Given the description of an element on the screen output the (x, y) to click on. 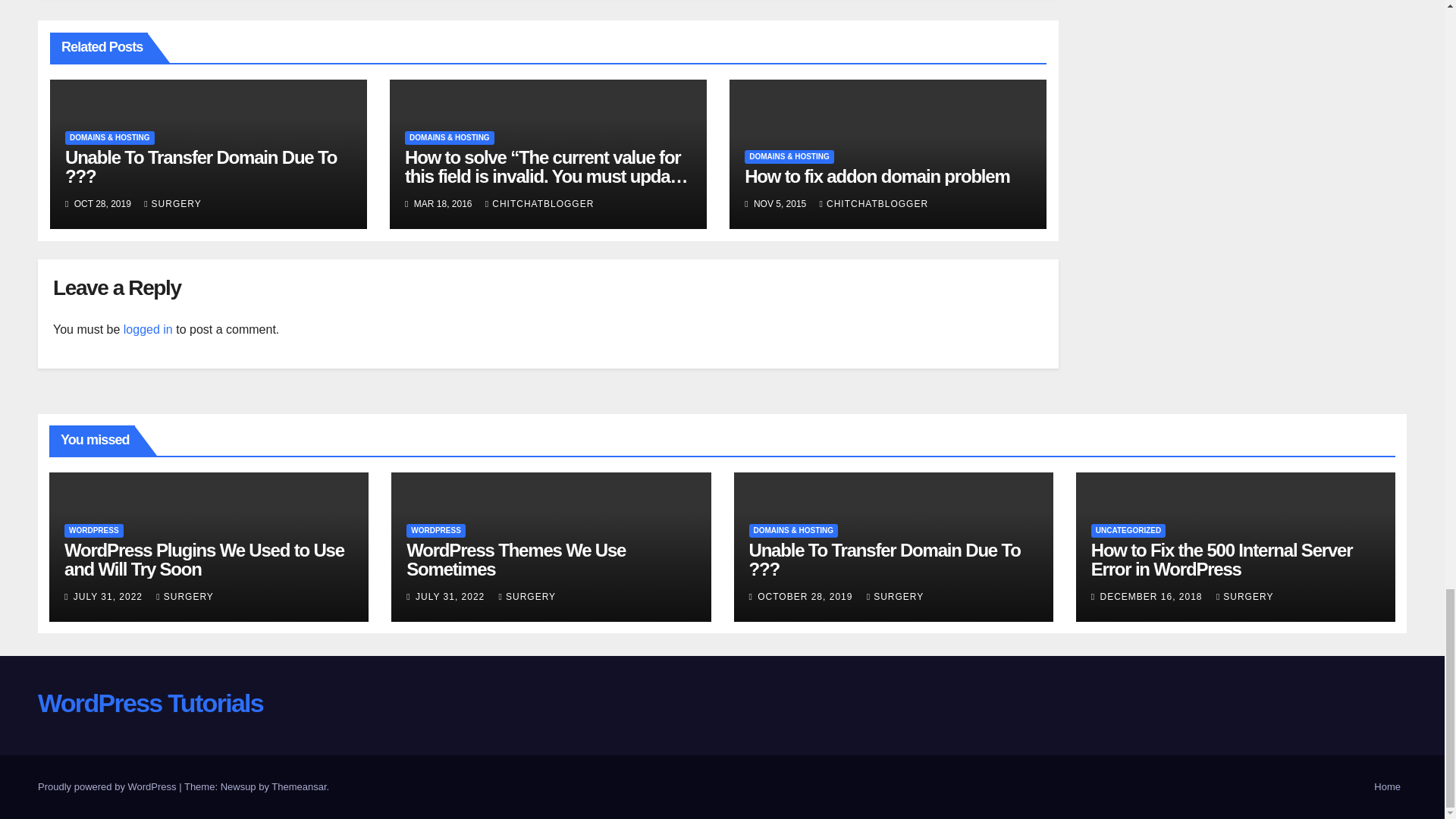
Permalink to: How to fix addon domain problem (876, 176)
SURGERY (173, 204)
Unable To Transfer Domain Due To ??? (200, 166)
CHITCHATBLOGGER (539, 204)
Permalink to: Unable To Transfer Domain Due To ??? (200, 166)
How to fix addon domain problem (876, 176)
Home (1387, 786)
CHITCHATBLOGGER (873, 204)
